Given the description of an element on the screen output the (x, y) to click on. 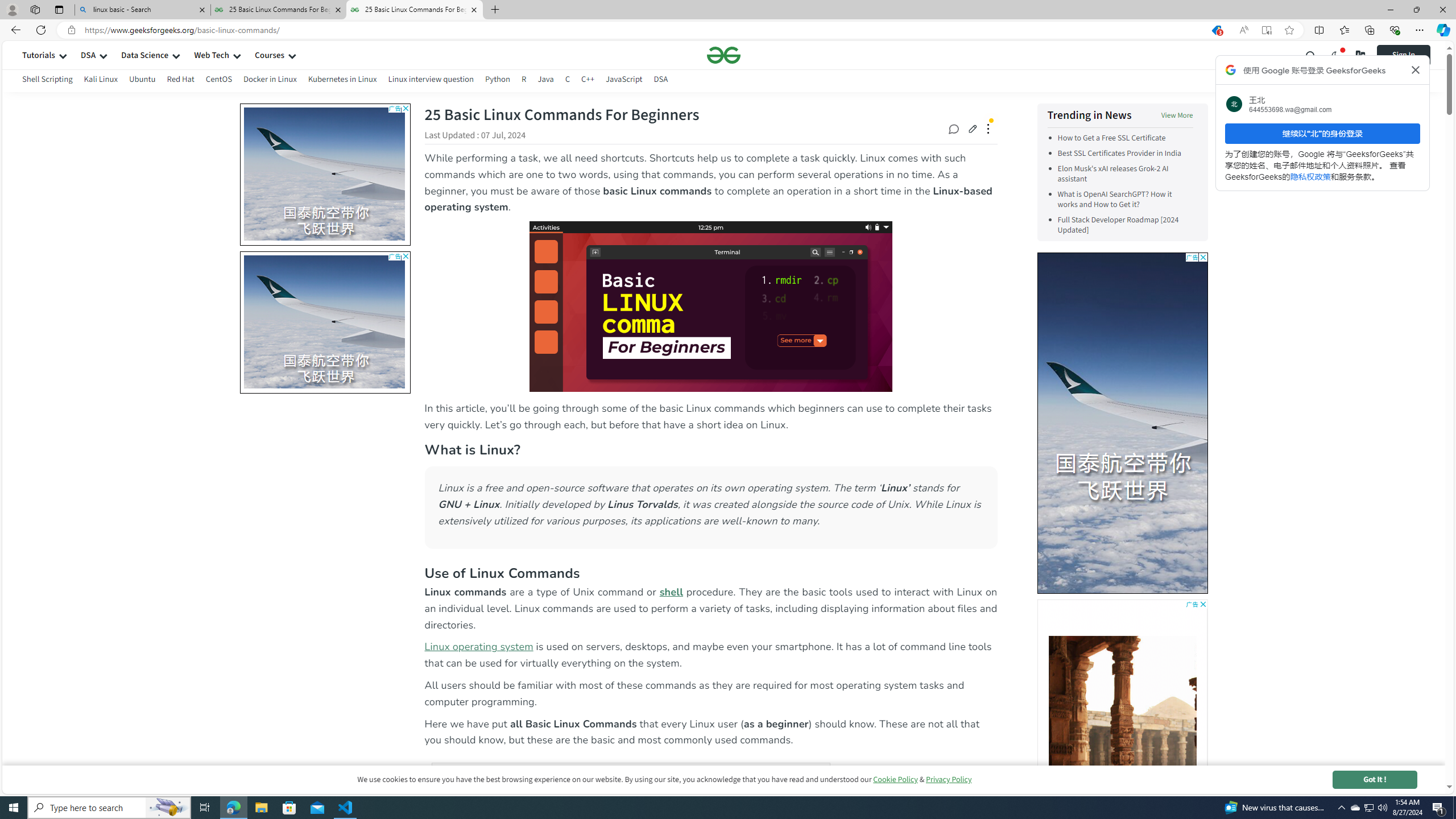
Python (497, 79)
C++ (587, 79)
Linux interview question (430, 80)
Java (545, 80)
Tutorials (38, 55)
Red Hat (180, 80)
C++ (587, 80)
Full Stack Developer Roadmap [2024 Updated] (1125, 224)
Sign In (1411, 54)
